Given the description of an element on the screen output the (x, y) to click on. 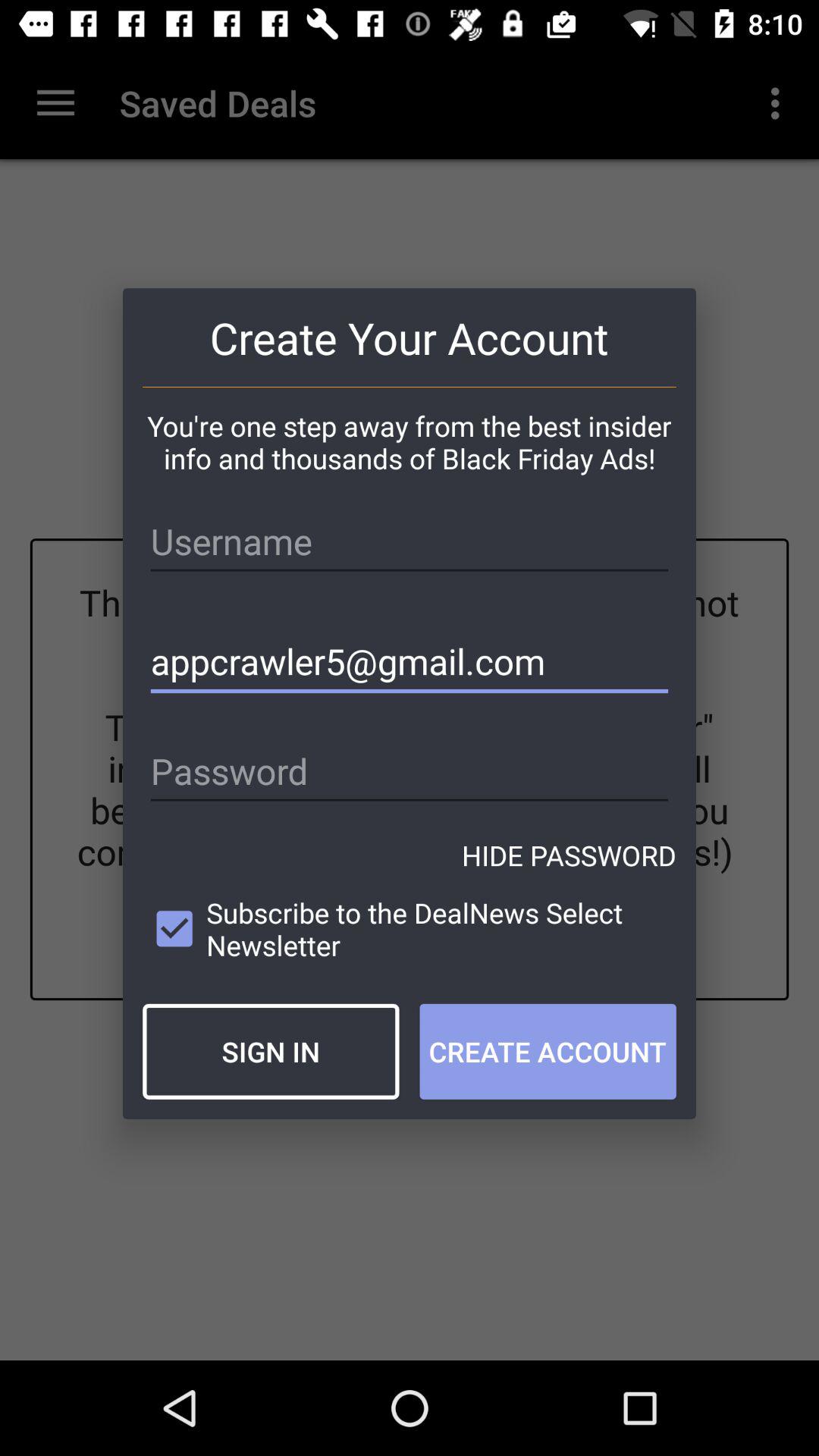
press the icon above the appcrawler5@gmail.com icon (409, 541)
